Given the description of an element on the screen output the (x, y) to click on. 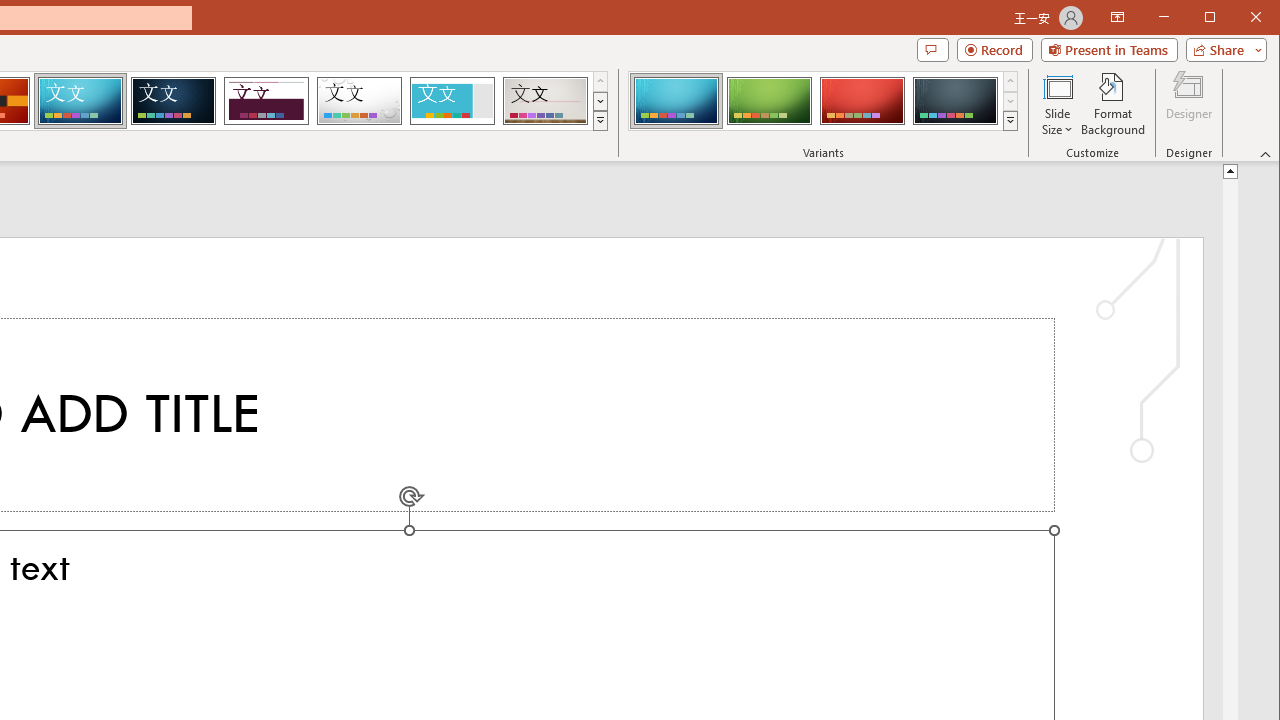
Circuit Variant 1 (676, 100)
Format Background (1113, 104)
Themes (600, 120)
Variants (1010, 120)
Gallery (545, 100)
Slide Size (1057, 104)
Dividend (266, 100)
Damask (173, 100)
Circuit Variant 4 (955, 100)
